Given the description of an element on the screen output the (x, y) to click on. 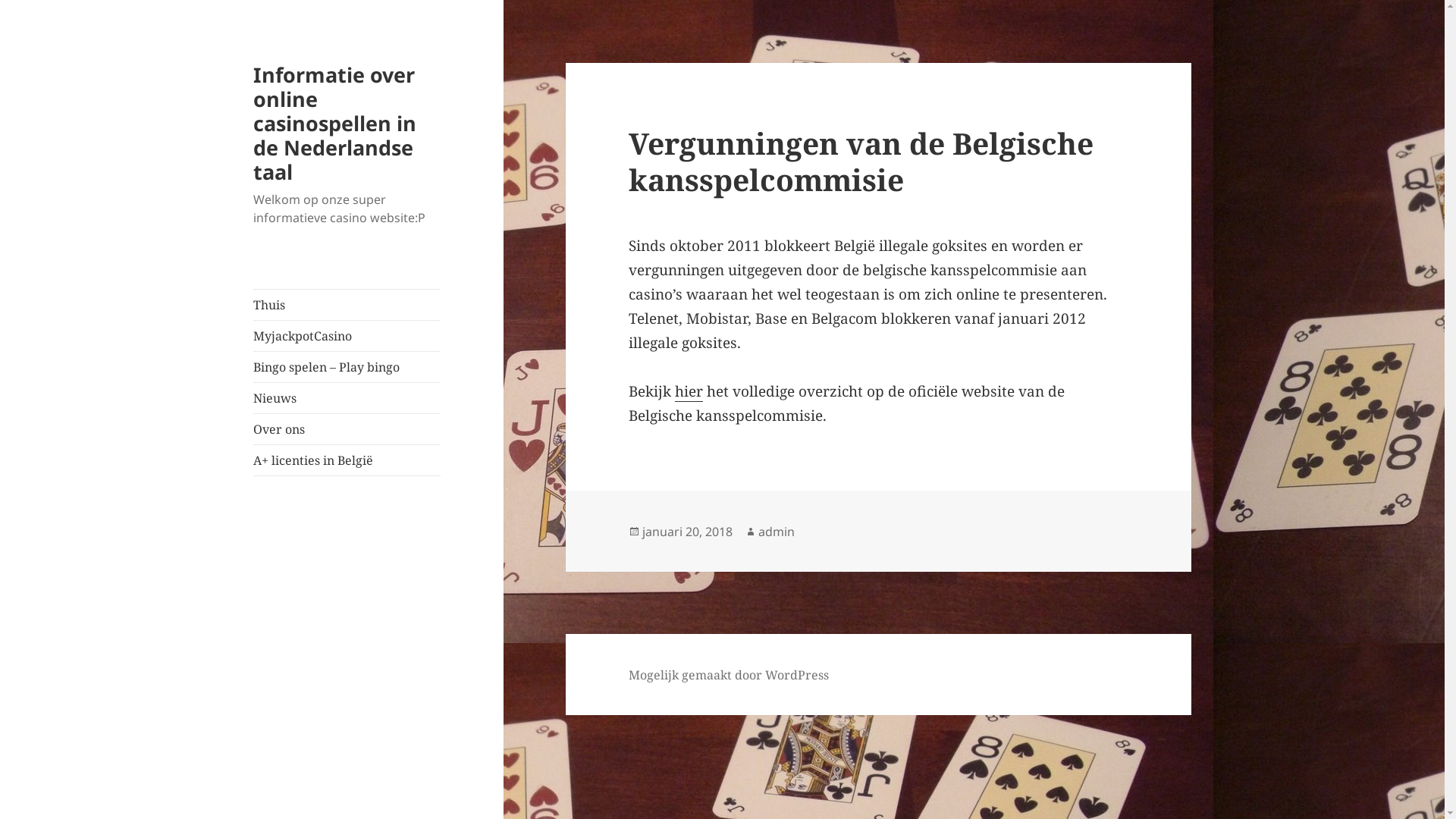
MyjackpotCasino Element type: text (347, 335)
Nieuws Element type: text (347, 397)
januari 20, 2018 Element type: text (687, 531)
Mogelijk gemaakt door WordPress Element type: text (728, 675)
Over ons Element type: text (347, 429)
Informatie over online casinospellen in de Nederlandse taal Element type: text (334, 122)
hier Element type: text (688, 391)
admin Element type: text (776, 531)
Thuis Element type: text (347, 304)
